Given the description of an element on the screen output the (x, y) to click on. 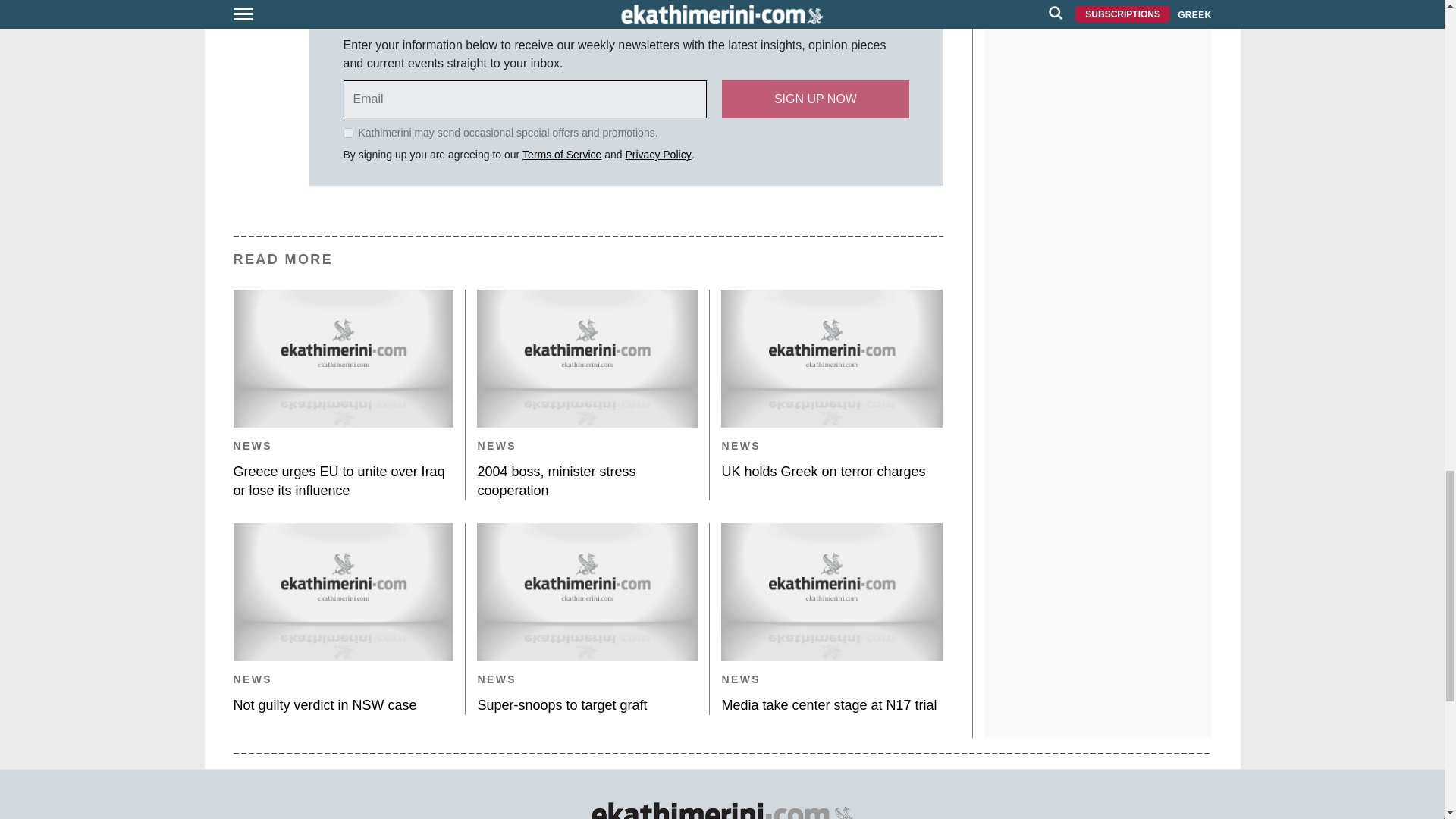
on (347, 132)
